Given the description of an element on the screen output the (x, y) to click on. 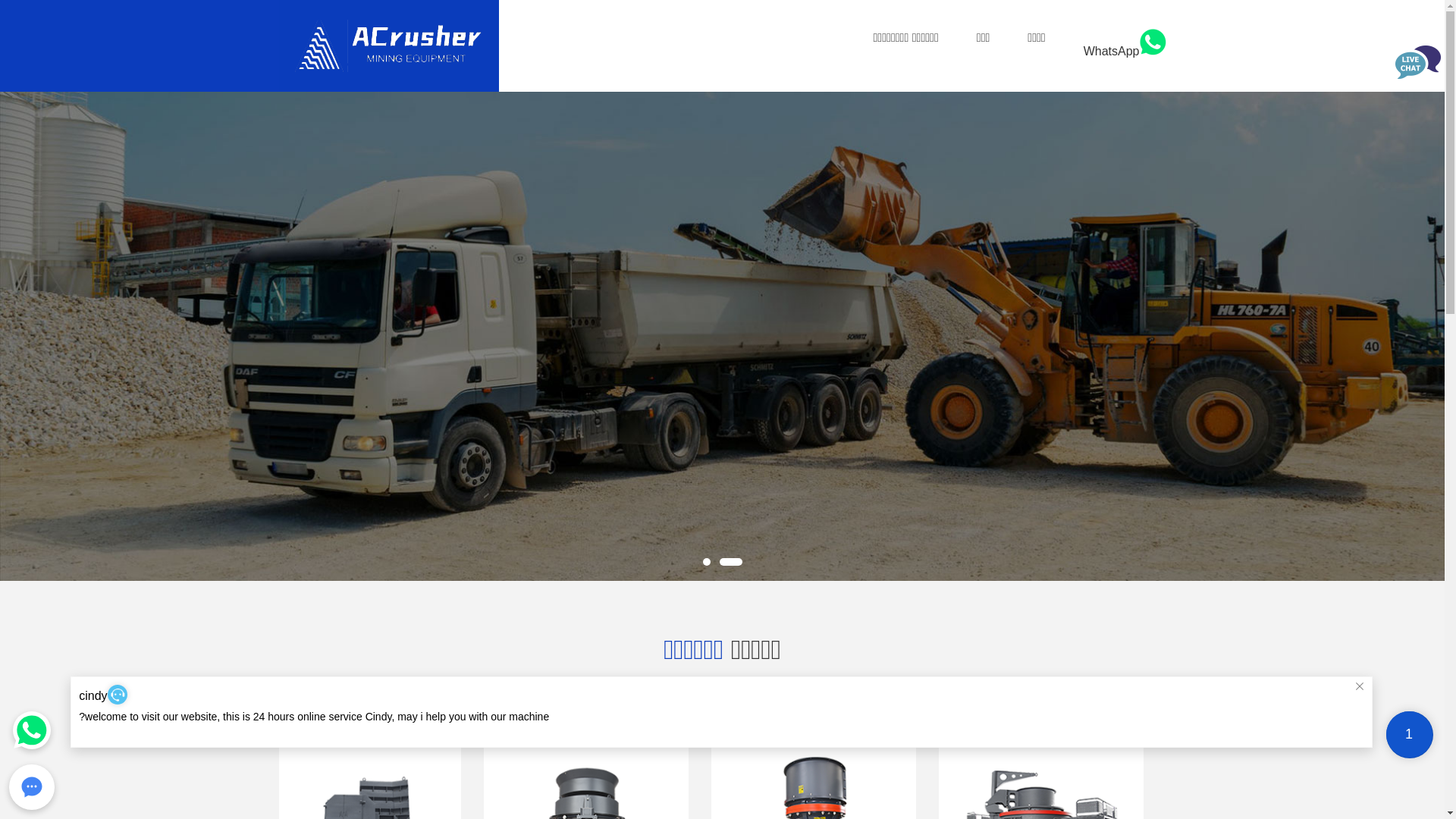
WhatsApp Element type: text (1124, 50)
